Given the description of an element on the screen output the (x, y) to click on. 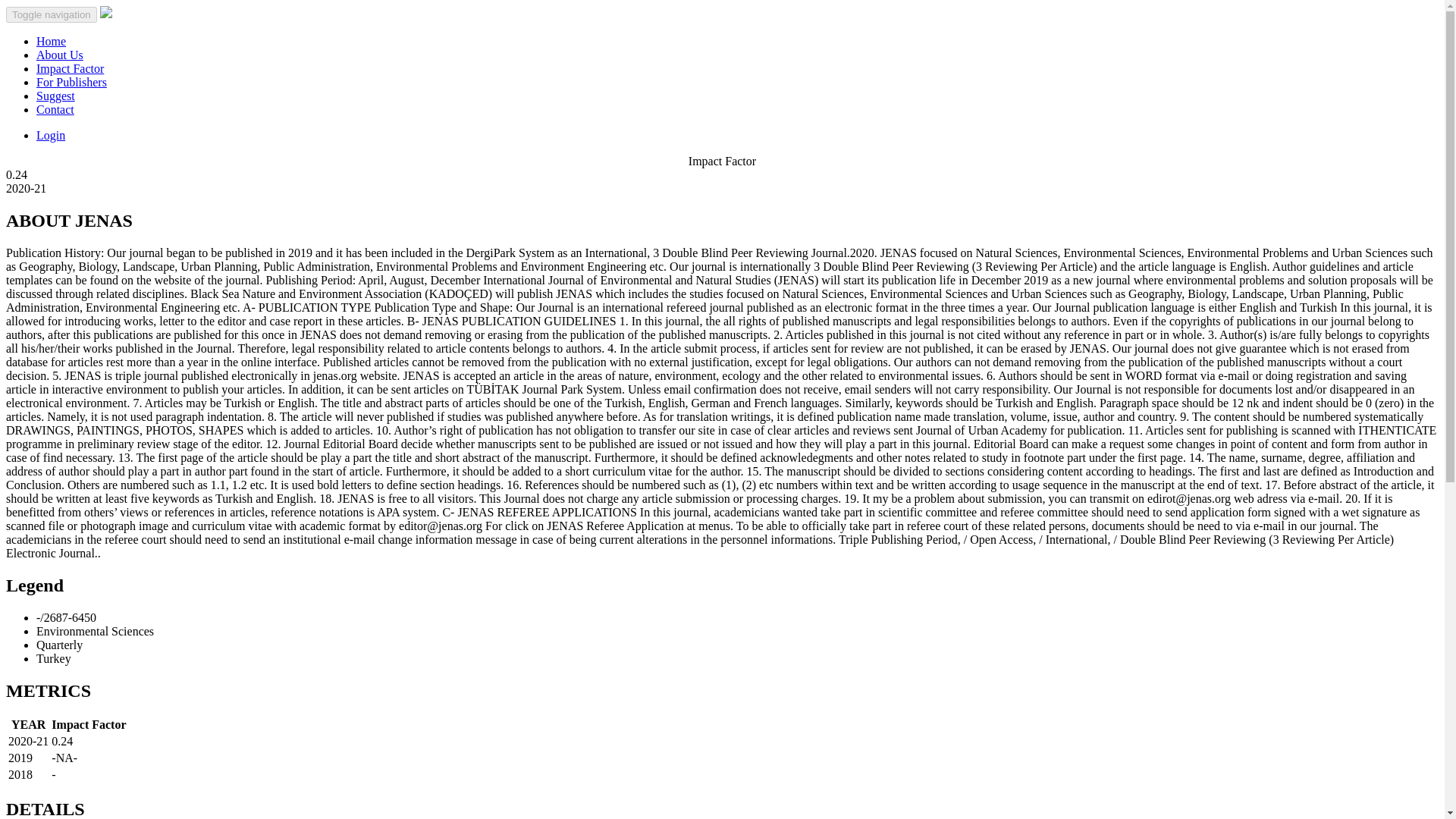
About Us (59, 54)
Contact (55, 109)
Impact Factor (69, 68)
Suggest (55, 95)
Toggle navigation (51, 14)
Home (50, 41)
For Publishers (71, 82)
Login (50, 134)
